Given the description of an element on the screen output the (x, y) to click on. 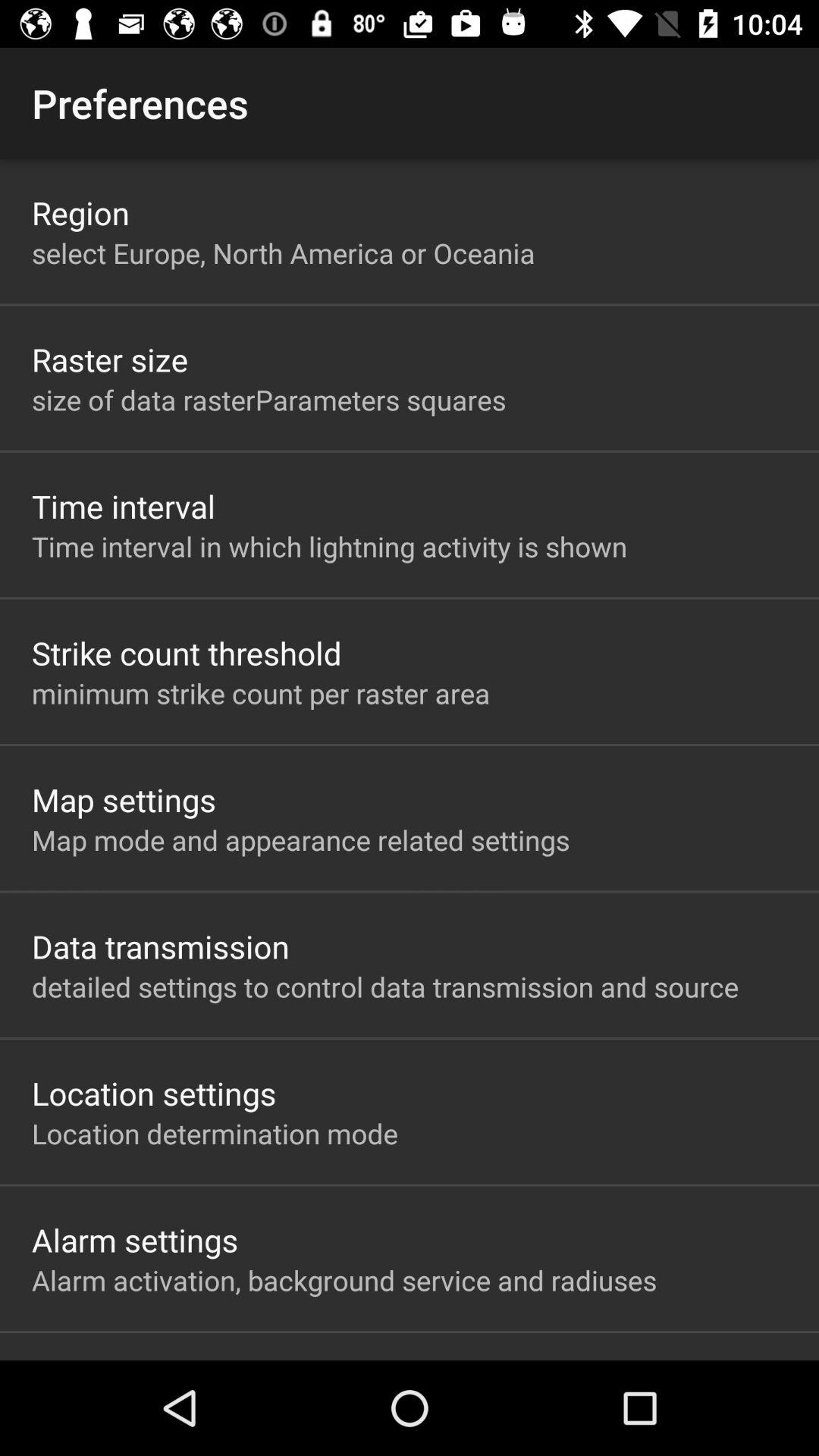
press the icon below preferences icon (80, 212)
